Given the description of an element on the screen output the (x, y) to click on. 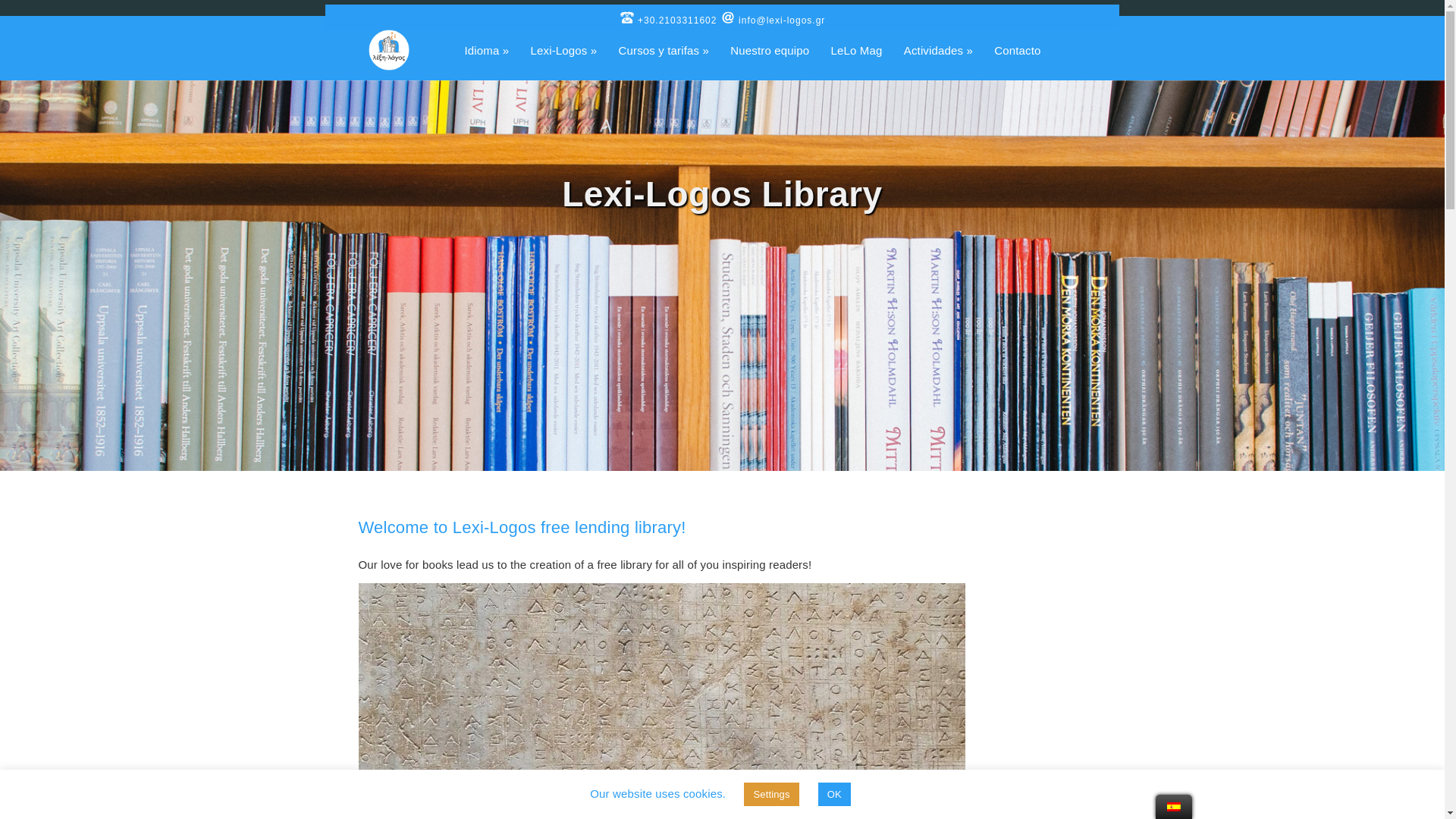
LeLo Mag (856, 62)
Cursos y tarifas (663, 62)
Contacto (1017, 62)
Lexi-Logos (564, 62)
Nuestro equipo (769, 62)
Actividades (938, 62)
Idioma (486, 62)
